Given the description of an element on the screen output the (x, y) to click on. 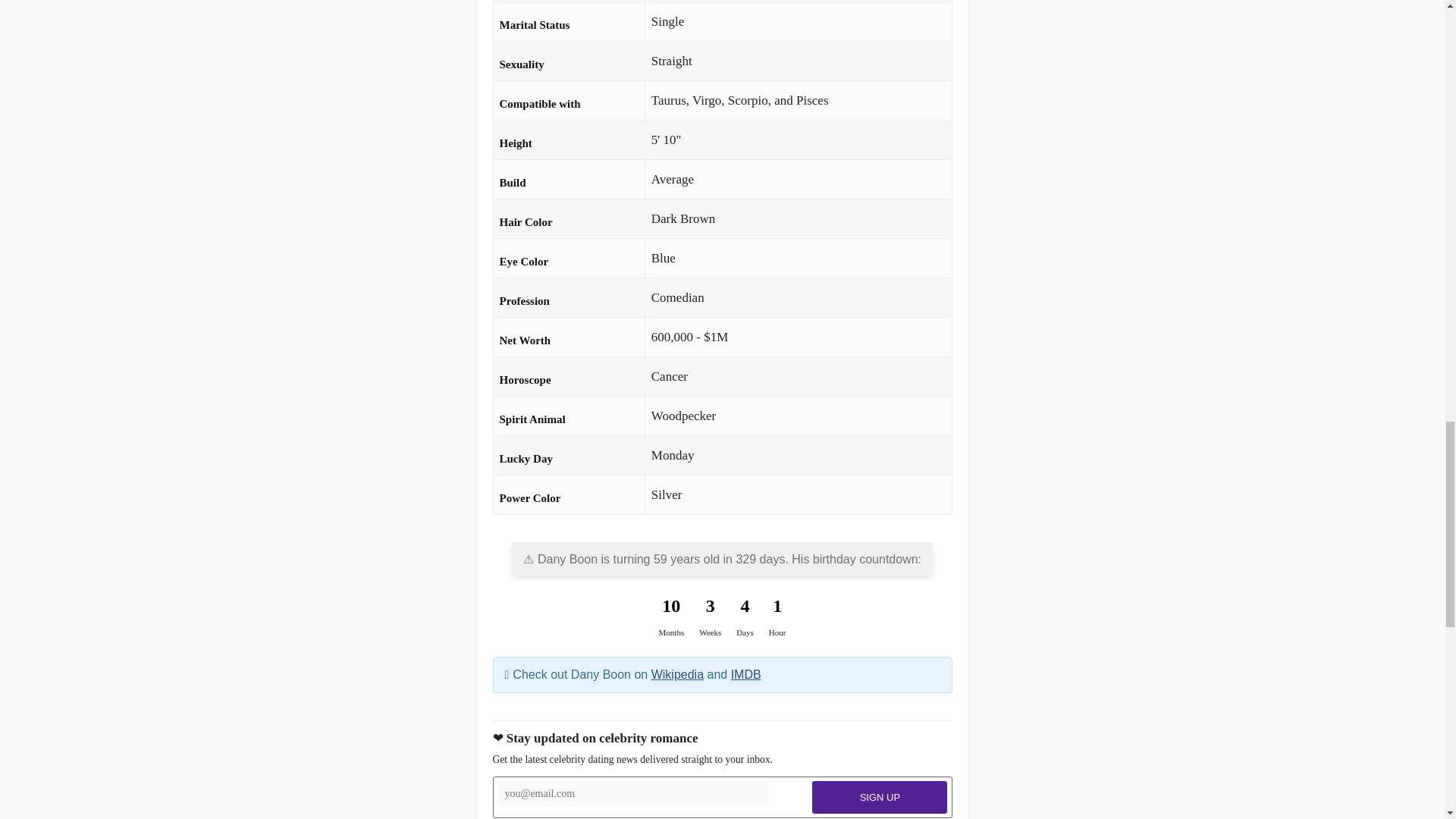
SIGN UP (879, 797)
Wikipedia (676, 674)
IMDB (745, 674)
SIGN UP (879, 797)
